Given the description of an element on the screen output the (x, y) to click on. 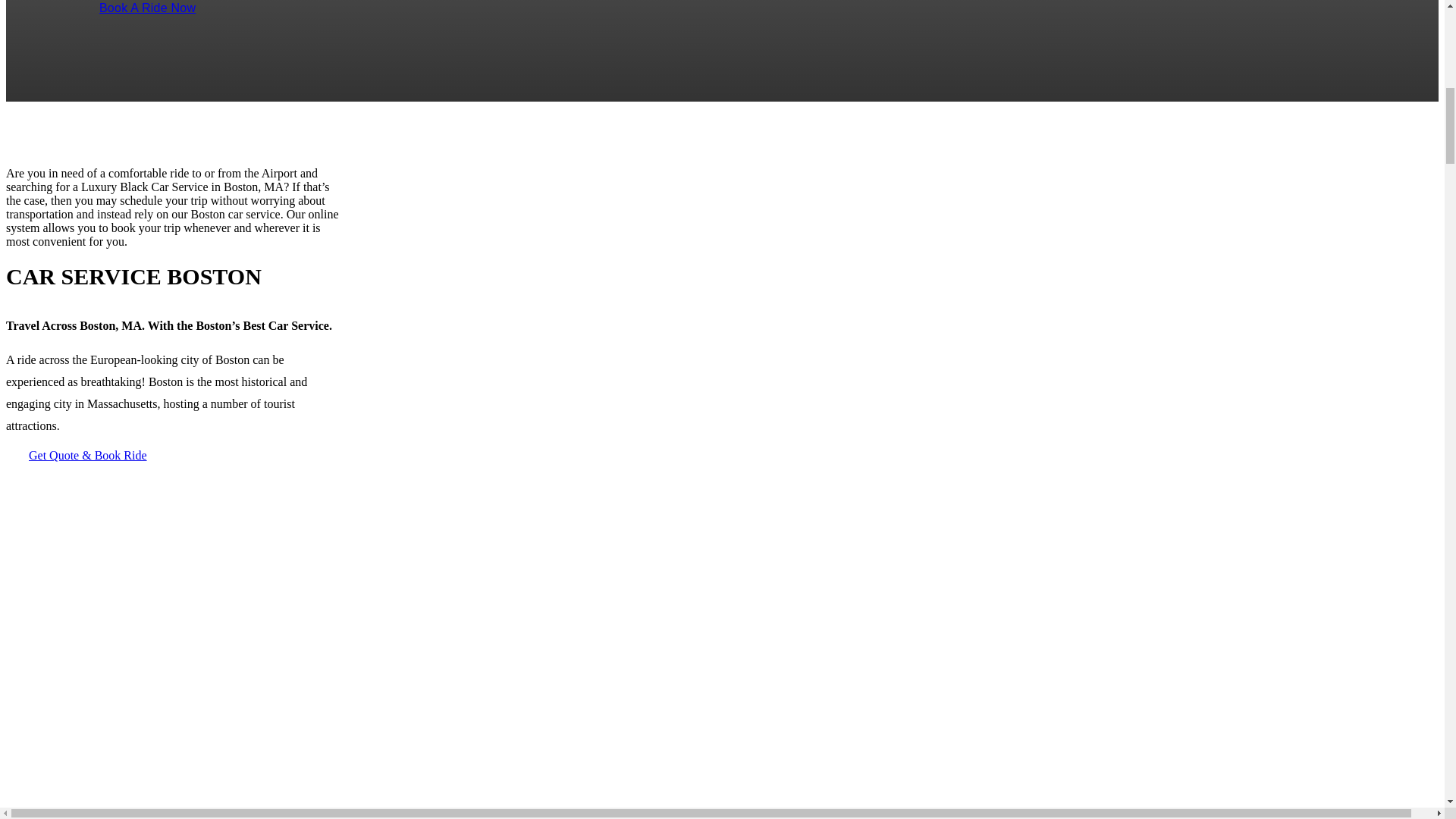
call button (129, 2)
book a ride button (146, 13)
book a ride button (87, 455)
